Given the description of an element on the screen output the (x, y) to click on. 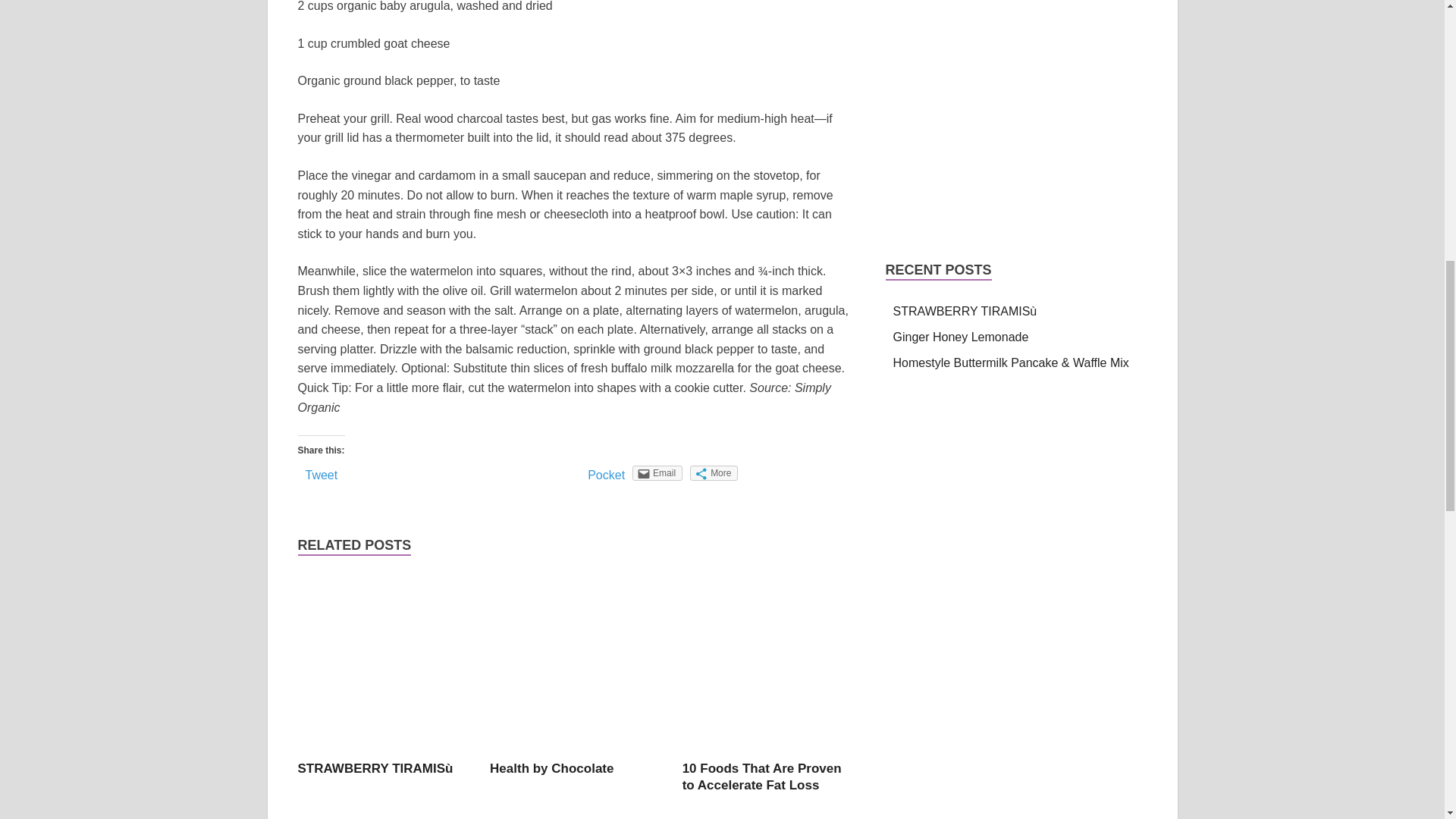
Health by Chocolate (550, 768)
Click to email a link to a friend (656, 473)
10 Foods That Are Proven to Accelerate Fat Loss (761, 776)
Pocket (606, 474)
Tweet (320, 474)
More (714, 473)
10 Foods That Are Proven to Accelerate Fat Loss (761, 776)
Health by Chocolate (550, 768)
Email (656, 473)
10 Foods That Are Proven to Accelerate Fat Loss (769, 750)
